Given the description of an element on the screen output the (x, y) to click on. 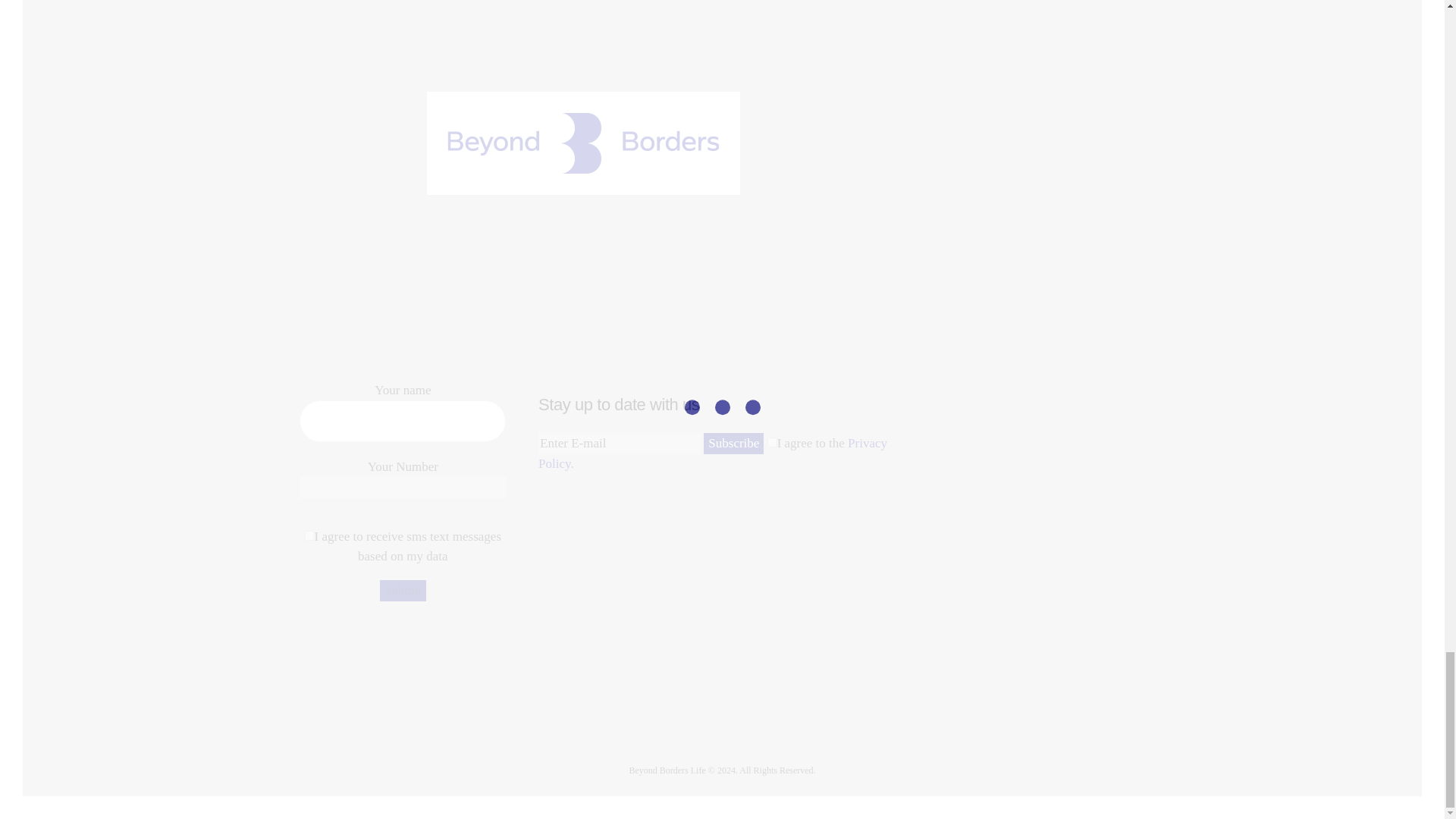
Subscribe (732, 444)
Submit (403, 590)
1 (309, 535)
1 (772, 442)
